Given the description of an element on the screen output the (x, y) to click on. 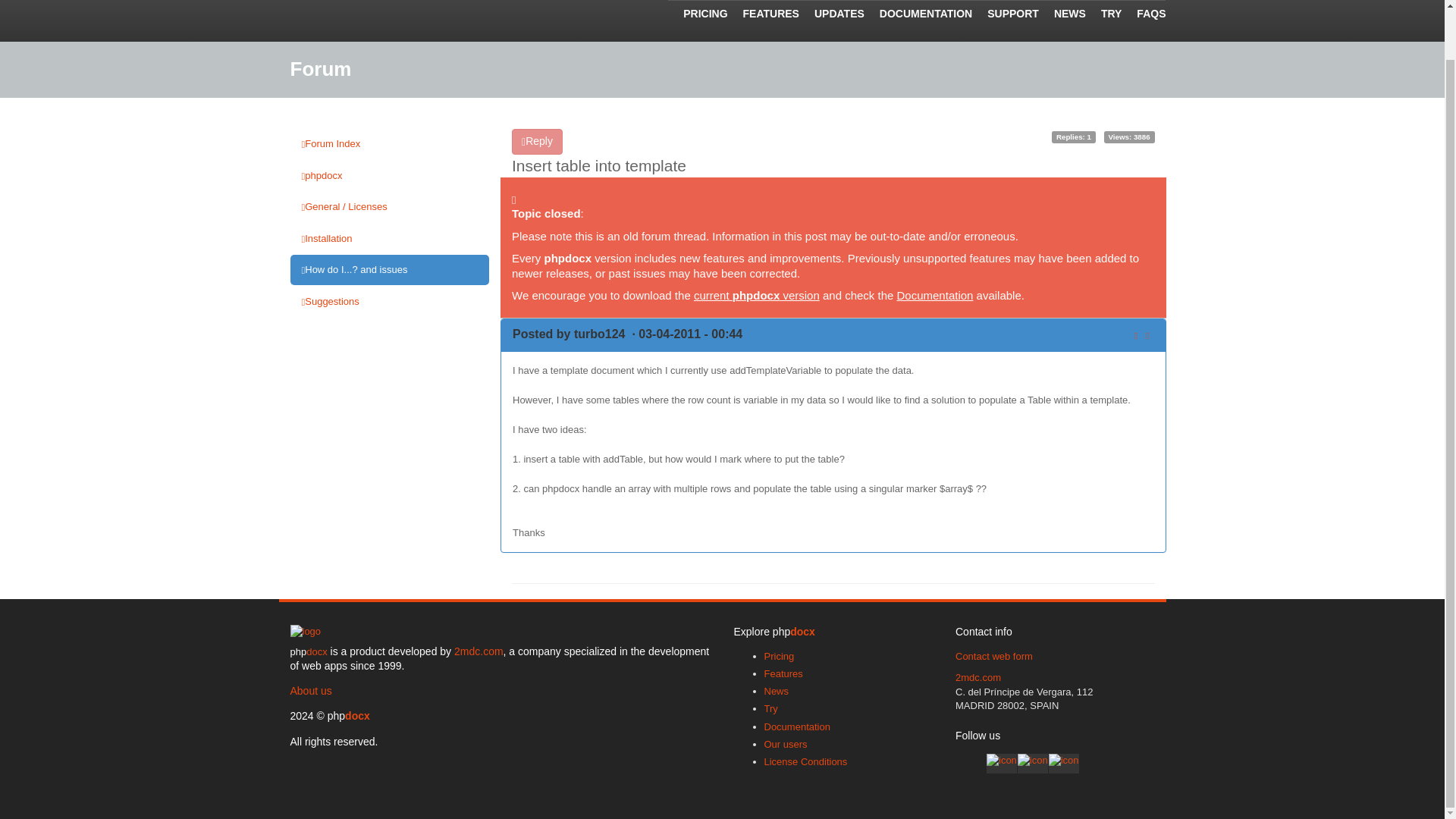
2mdc (478, 651)
Insert table into template (598, 165)
Home (304, 633)
TRY (1103, 19)
PRICING (697, 19)
phpdocx (389, 175)
License Conditions (805, 761)
FEATURES (763, 19)
NEWS (1062, 19)
How do I...? and issues (389, 269)
About us (310, 690)
Forum Index (389, 143)
Features (783, 673)
Suggestions (389, 301)
SUPPORT (1005, 19)
